Given the description of an element on the screen output the (x, y) to click on. 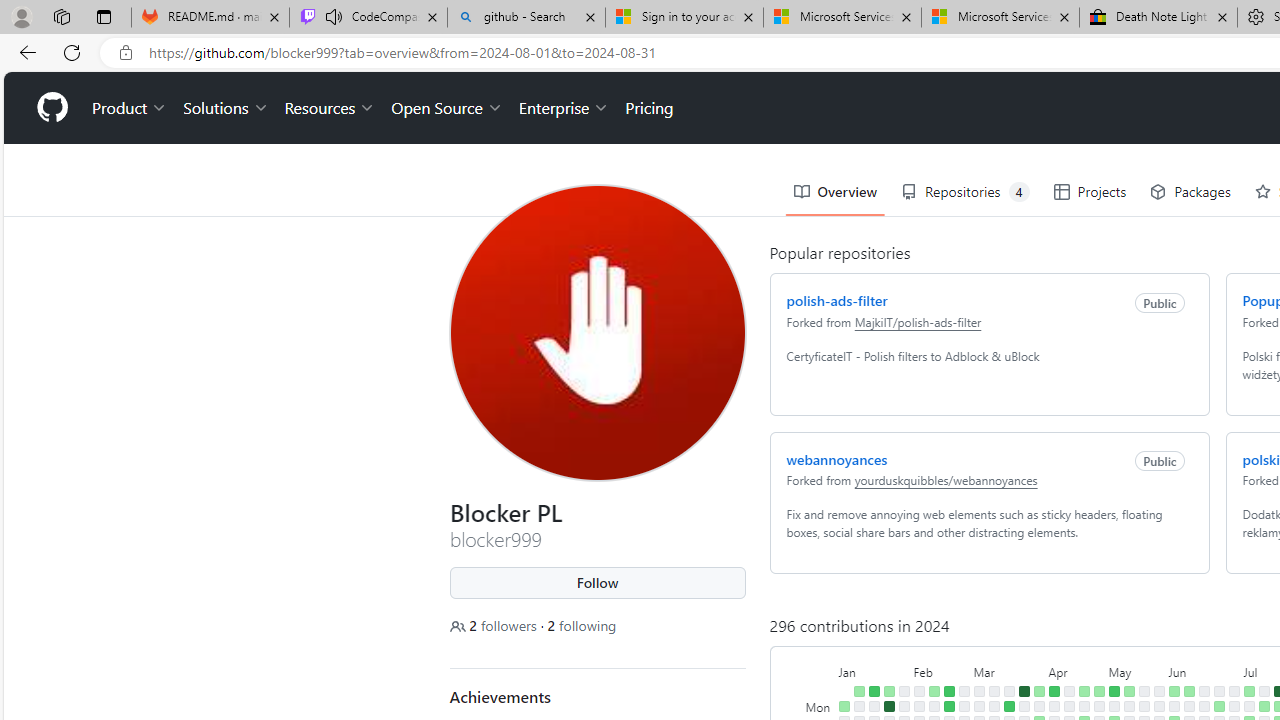
No contributions on June 17th. (1203, 706)
2 contributions on May 12th. (1128, 691)
2 contributions on July 15th. (1263, 706)
February (941, 670)
No contributions on April 22nd. (1083, 706)
View blocker999's full-sized avatar (597, 332)
No contributions on June 10th. (1188, 706)
No contributions on July 14th. (1263, 691)
No contributions on January 8th. (858, 706)
No contributions on June 23rd. (1218, 691)
No contributions on June 3rd. (1173, 706)
2 followers  (495, 625)
Pricing (649, 107)
2 contributions on April 28th. (1098, 691)
